Given the description of an element on the screen output the (x, y) to click on. 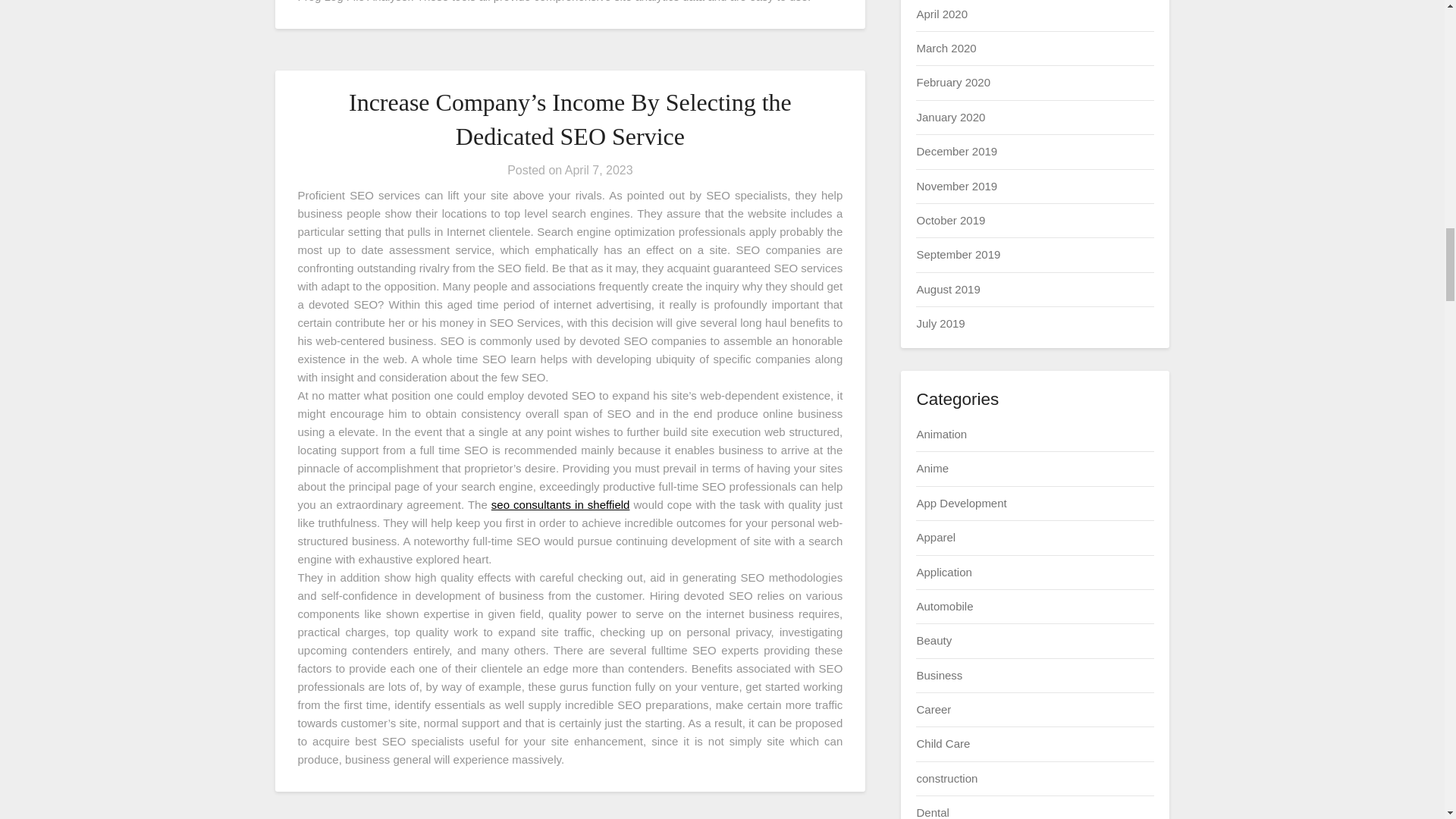
April 7, 2023 (598, 169)
seo consultants in sheffield (561, 504)
